Given the description of an element on the screen output the (x, y) to click on. 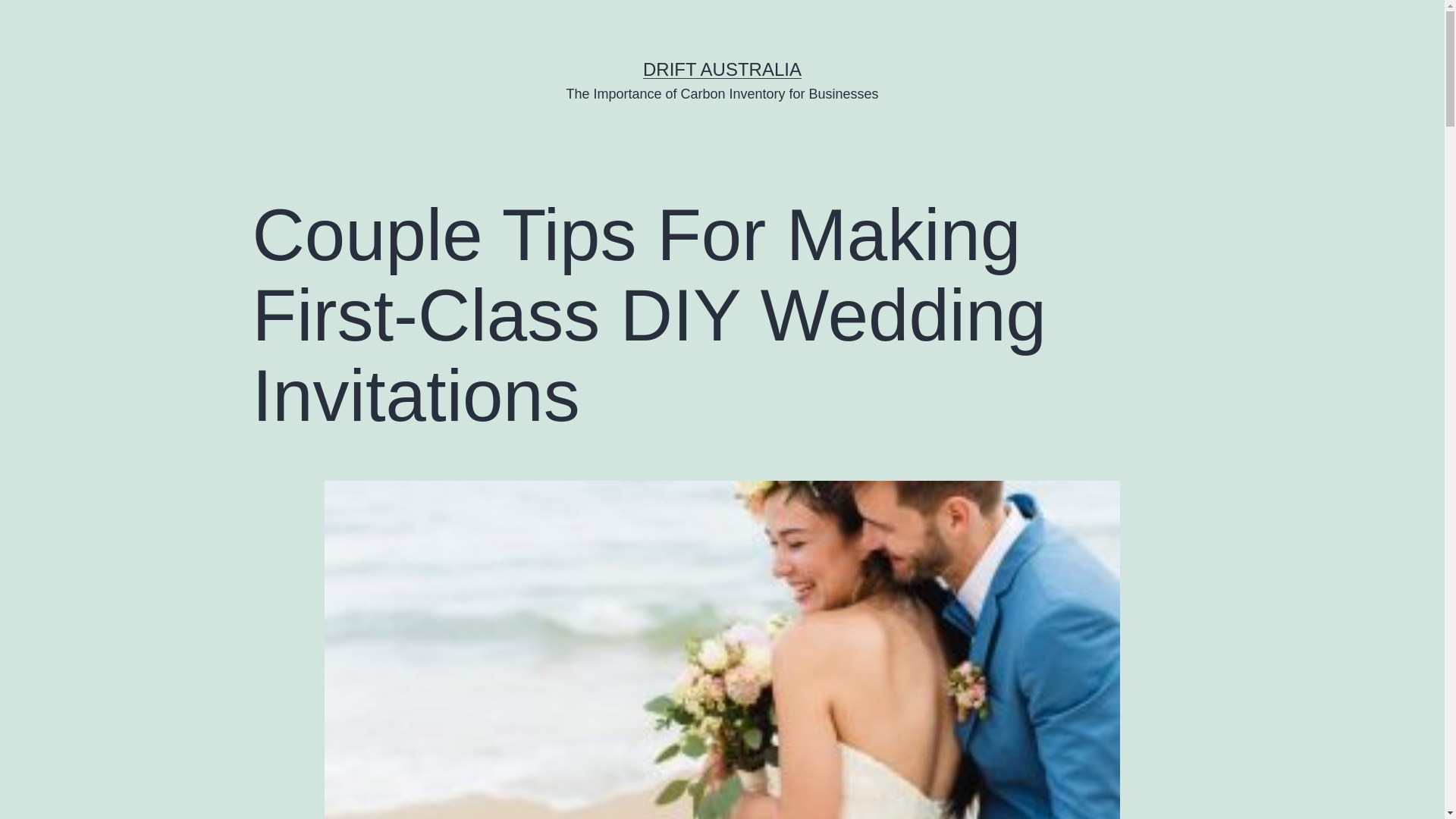
DRIFT AUSTRALIA Element type: text (722, 69)
